Given the description of an element on the screen output the (x, y) to click on. 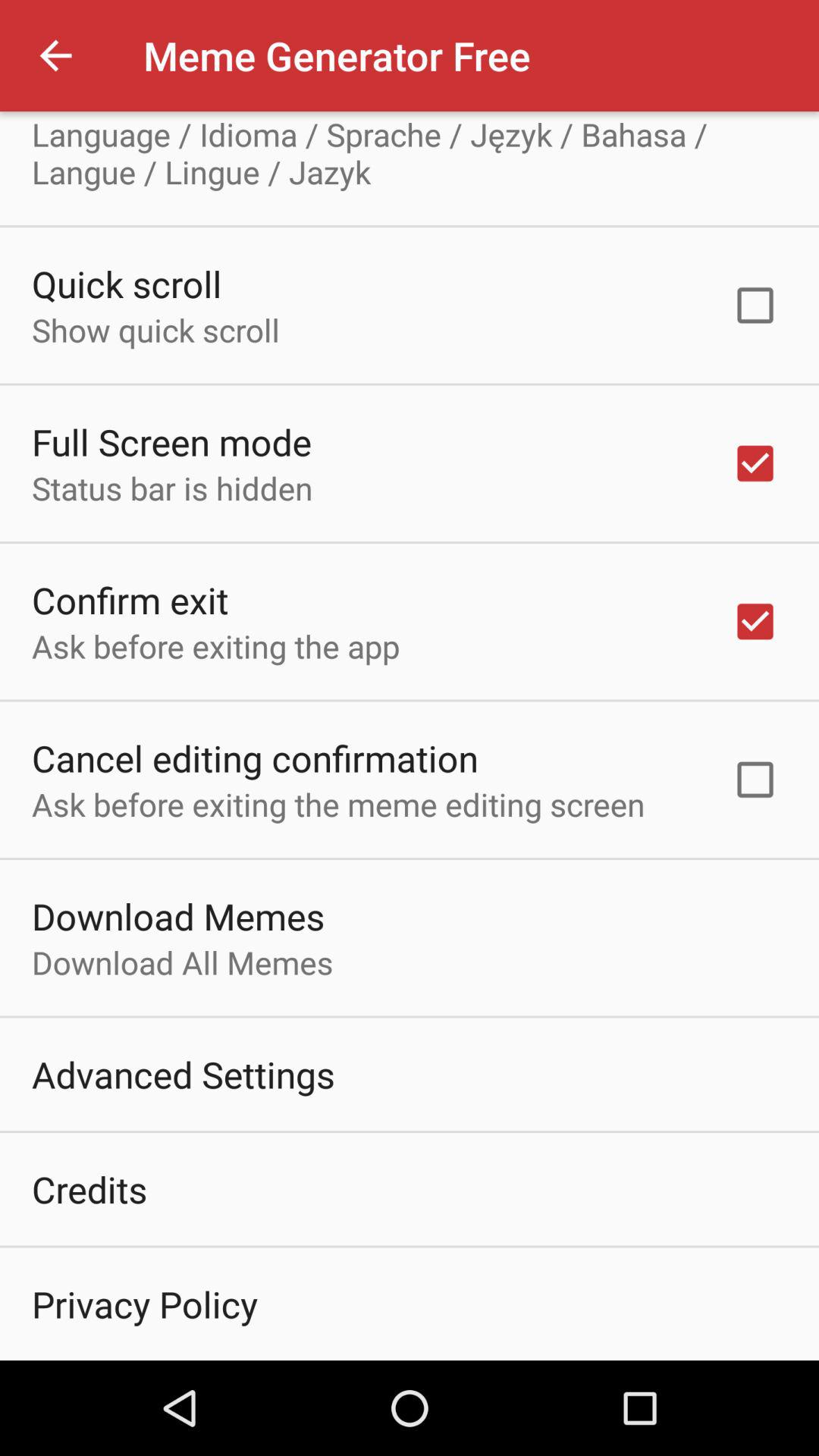
press icon above privacy policy item (89, 1188)
